Given the description of an element on the screen output the (x, y) to click on. 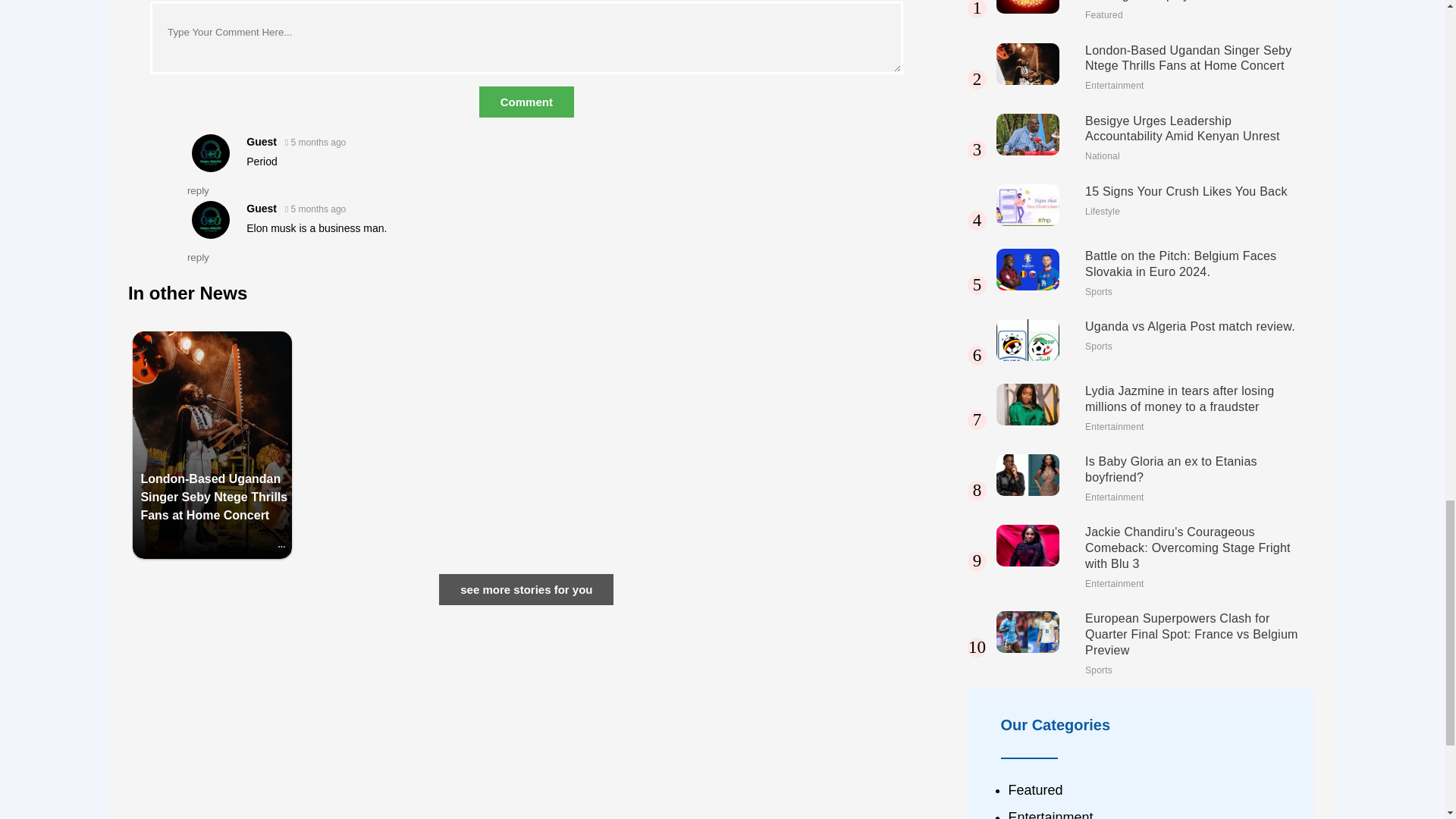
reply (198, 256)
Guest (261, 141)
reply (198, 190)
Guest (261, 208)
reply (198, 256)
see more stories for you (526, 589)
reply (198, 190)
Comment (526, 101)
see more stories for you (525, 589)
